Given the description of an element on the screen output the (x, y) to click on. 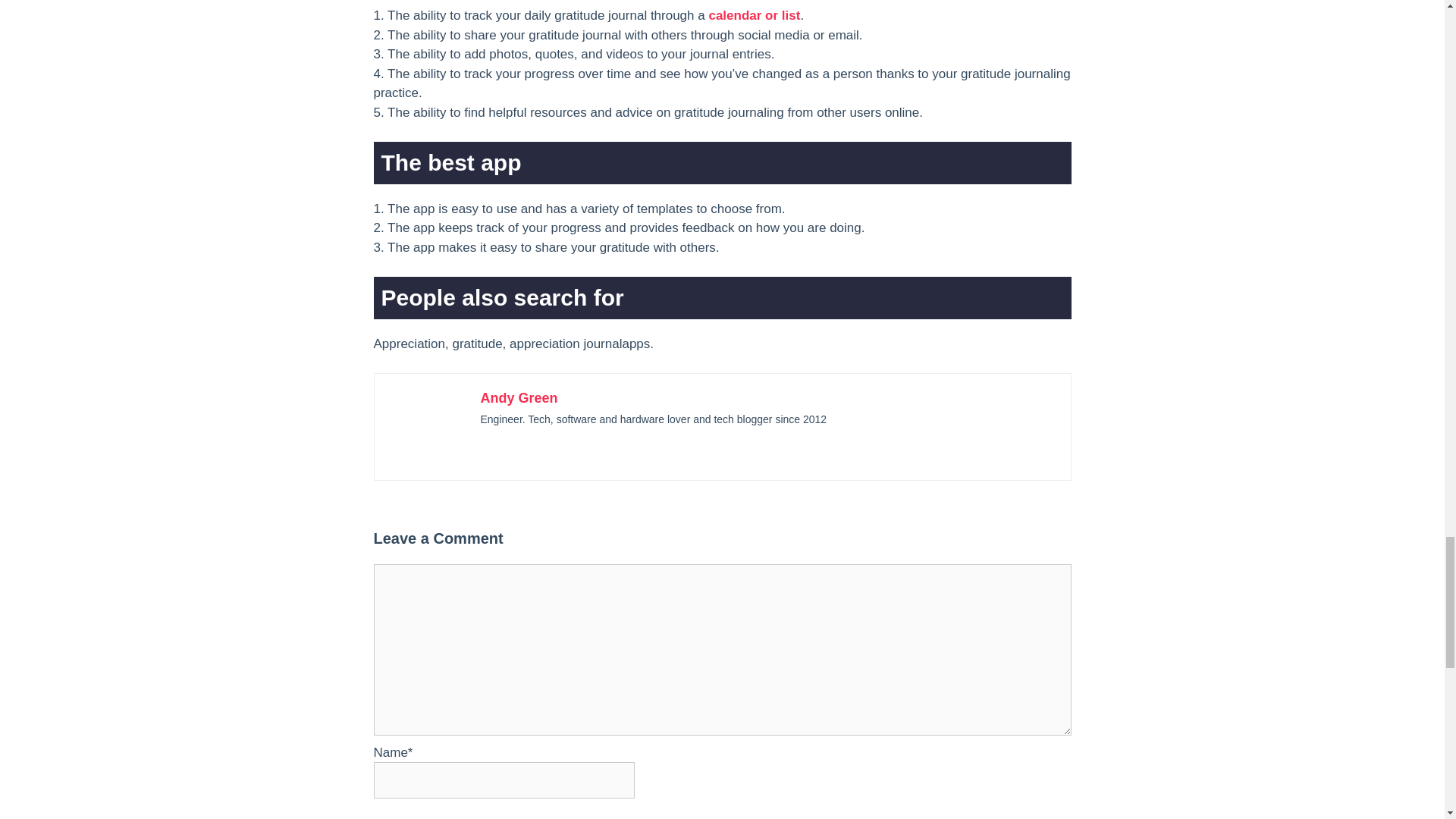
Andy Green (518, 396)
calendar or list (753, 15)
